Given the description of an element on the screen output the (x, y) to click on. 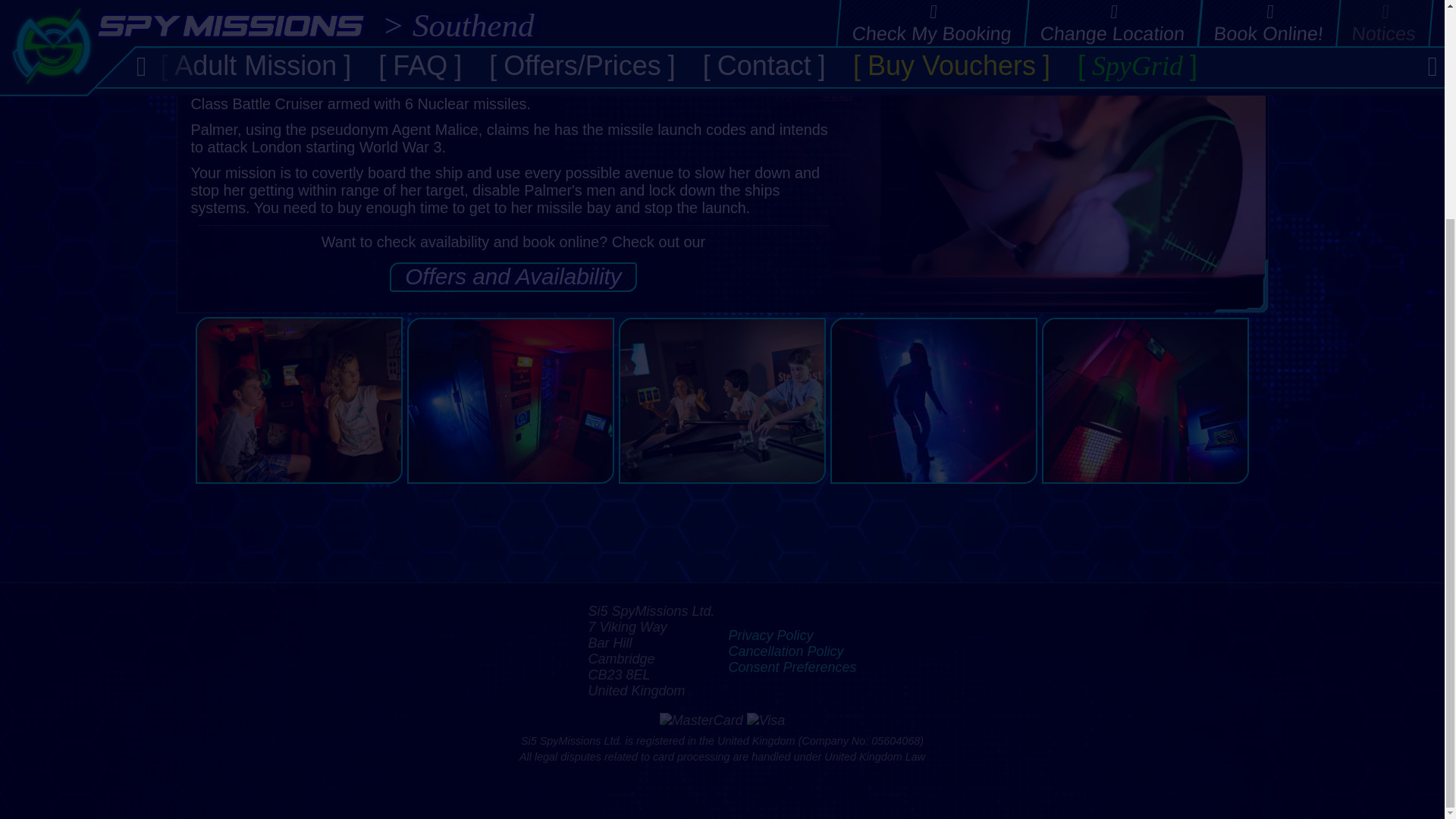
Offers and Availability (513, 276)
Consent Preferences (792, 667)
Privacy Policy (770, 635)
Cancellation Policy (785, 651)
